Given the description of an element on the screen output the (x, y) to click on. 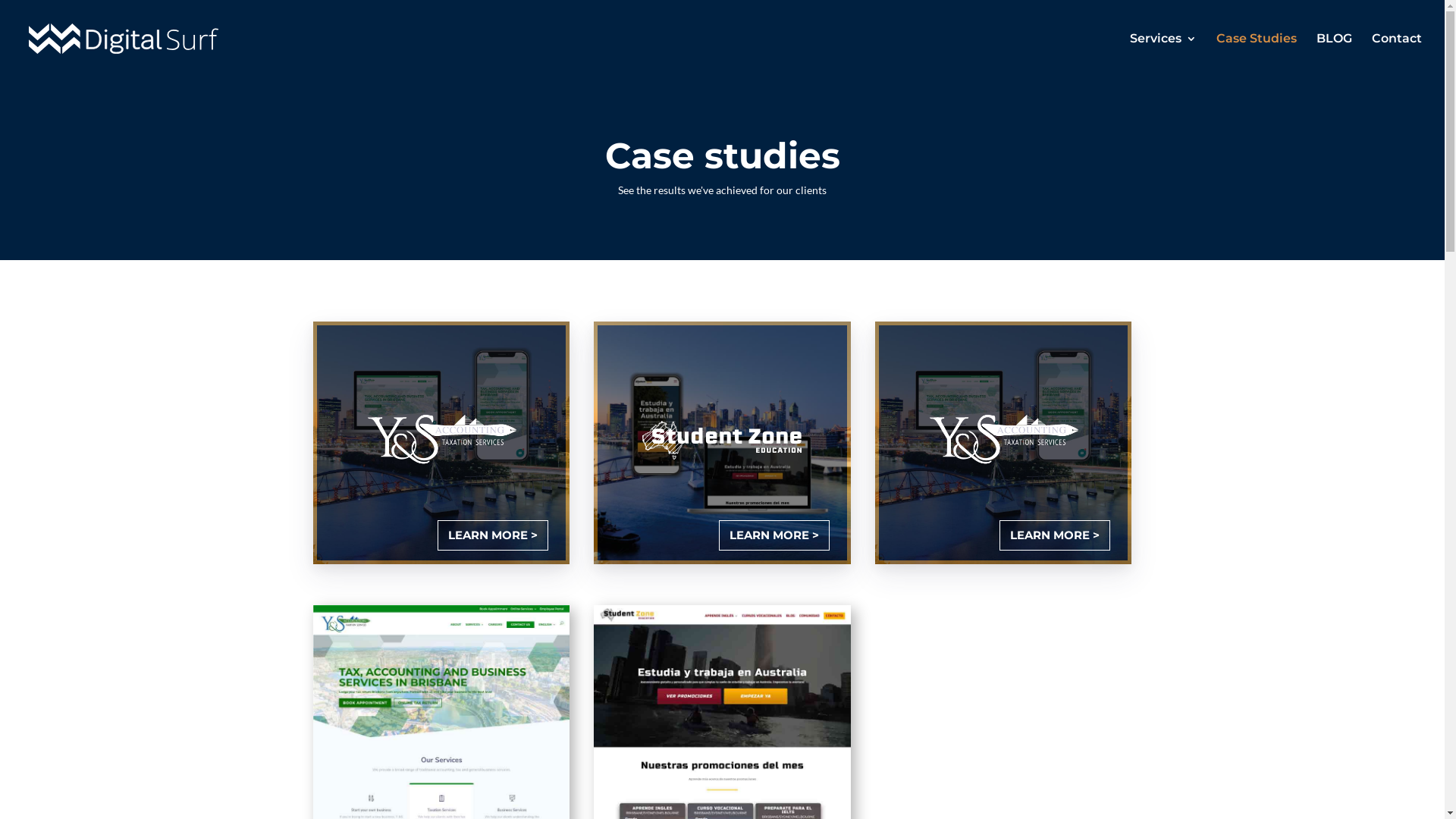
Contact Element type: text (1396, 55)
LEARN MORE > Element type: text (773, 535)
Case Studies Element type: text (1256, 55)
LEARN MORE > Element type: text (1054, 535)
BLOG Element type: text (1334, 55)
Services Element type: text (1162, 55)
LEARN MORE > Element type: text (492, 535)
